Given the description of an element on the screen output the (x, y) to click on. 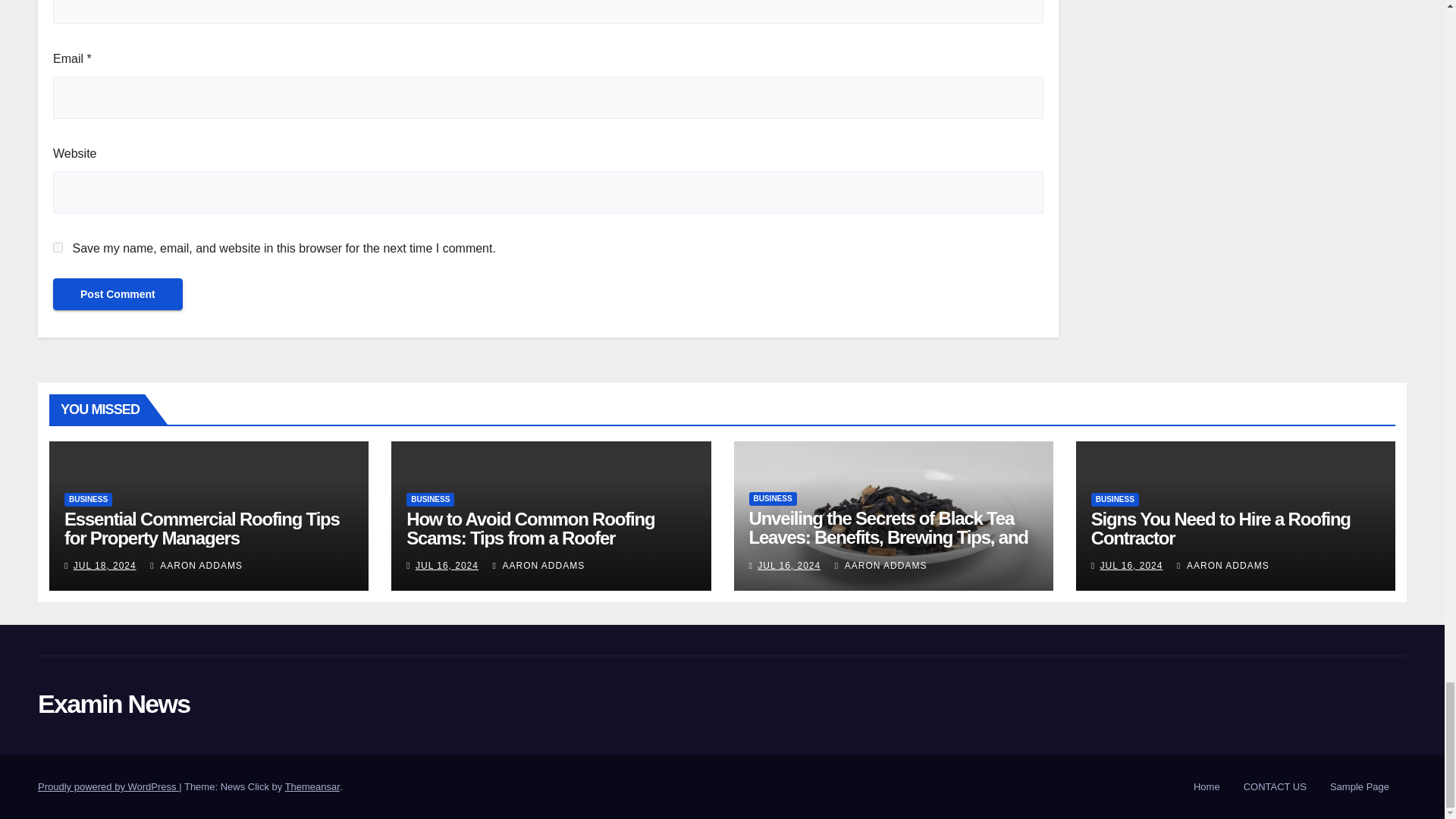
Post Comment (117, 294)
Home (1206, 786)
yes (57, 247)
Permalink to: Signs You Need to Hire a Roofing Contractor (1220, 527)
